Given the description of an element on the screen output the (x, y) to click on. 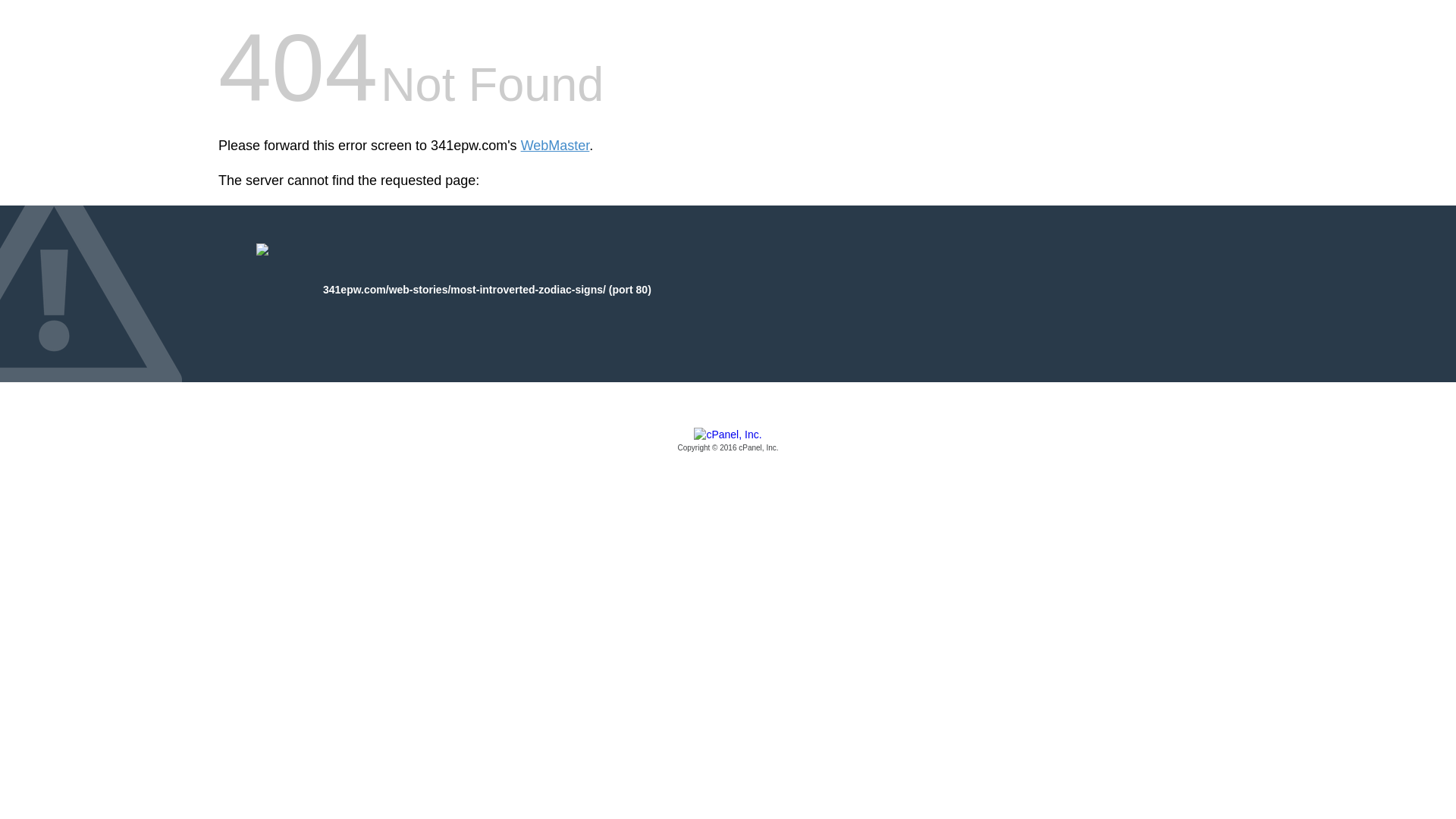
WebMaster (555, 145)
cPanel, Inc. (727, 440)
